Given the description of an element on the screen output the (x, y) to click on. 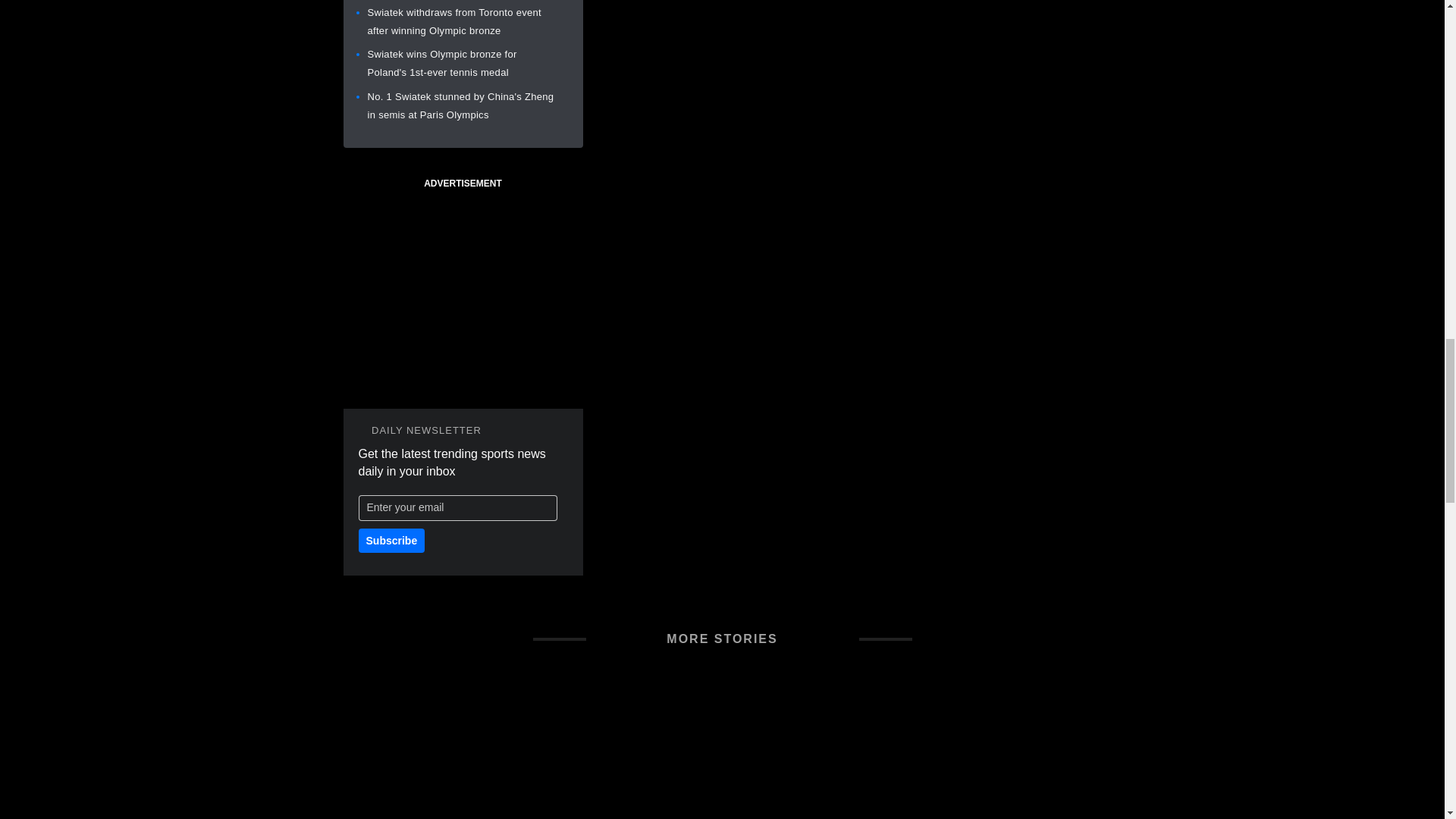
Subscribe (391, 540)
